Given the description of an element on the screen output the (x, y) to click on. 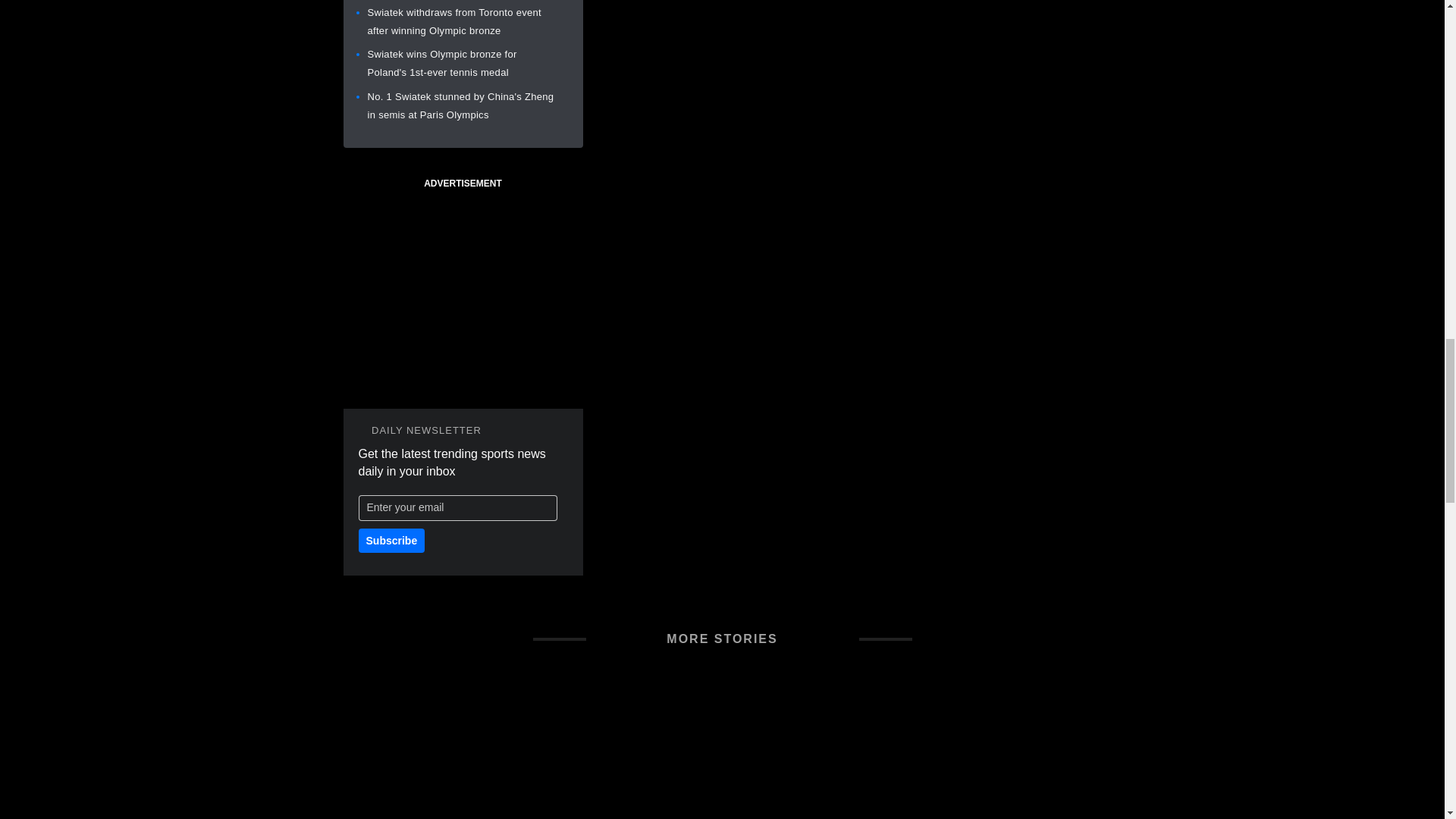
Subscribe (391, 540)
